Given the description of an element on the screen output the (x, y) to click on. 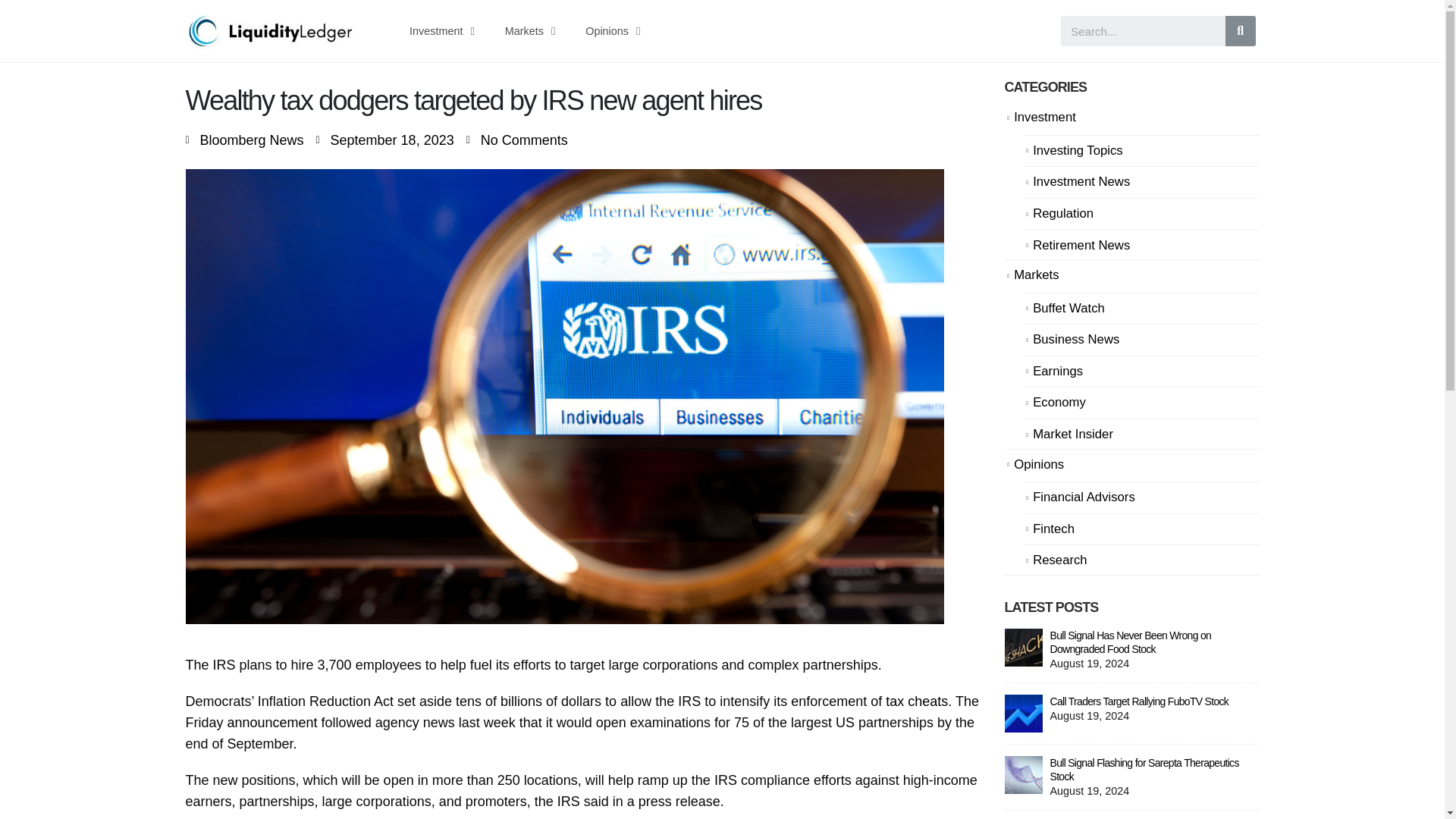
Markets (529, 30)
Search (1143, 30)
Search (1240, 30)
Investment (441, 30)
Opinions (612, 30)
